Given the description of an element on the screen output the (x, y) to click on. 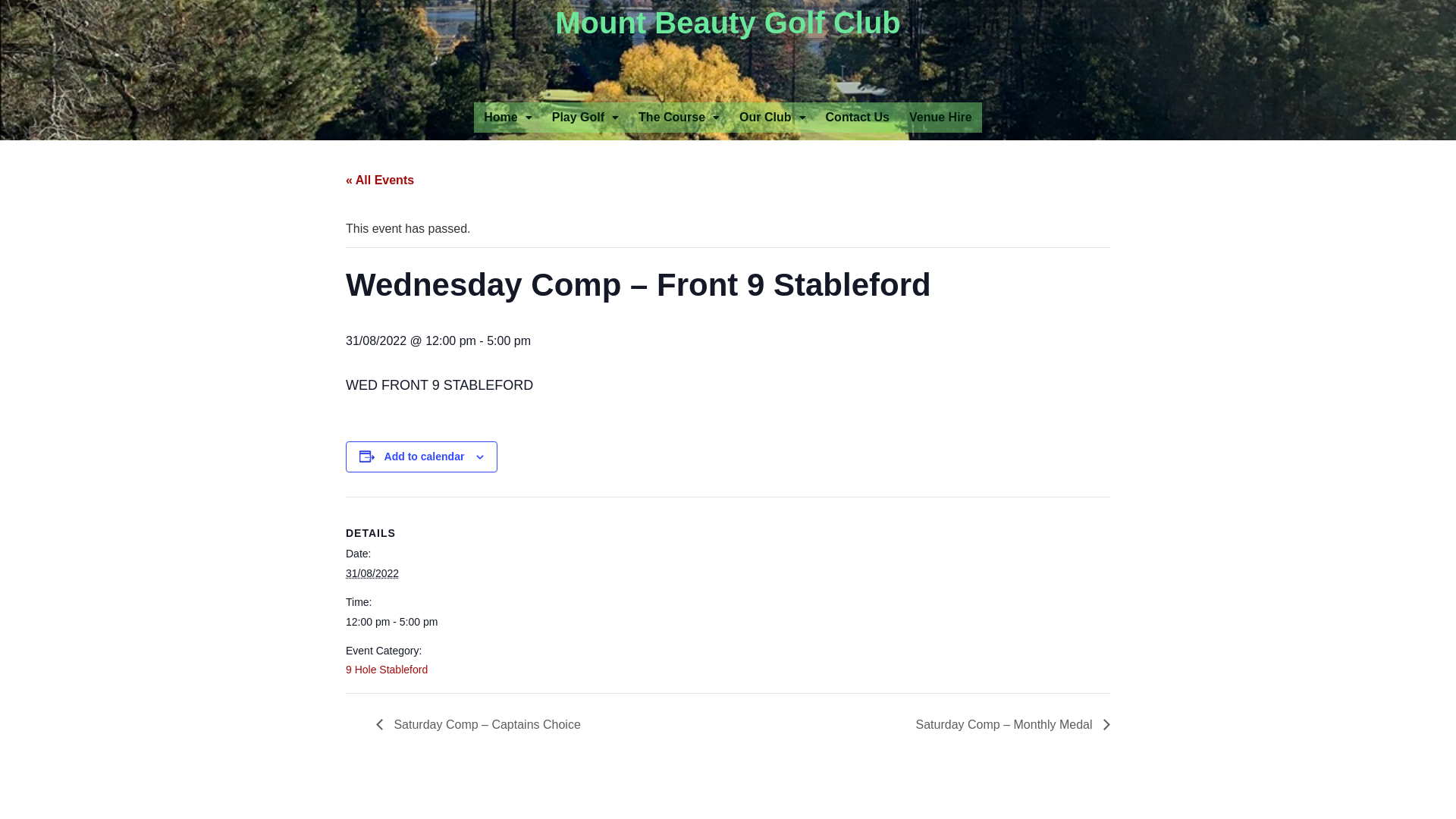
Our Club Element type: text (772, 117)
Contact Us Element type: text (857, 117)
9 Hole Stableford Element type: text (386, 669)
Play Golf Element type: text (585, 117)
Venue Hire Element type: text (940, 117)
The Course Element type: text (678, 117)
Home Element type: text (507, 117)
Add to calendar Element type: text (424, 456)
